Given the description of an element on the screen output the (x, y) to click on. 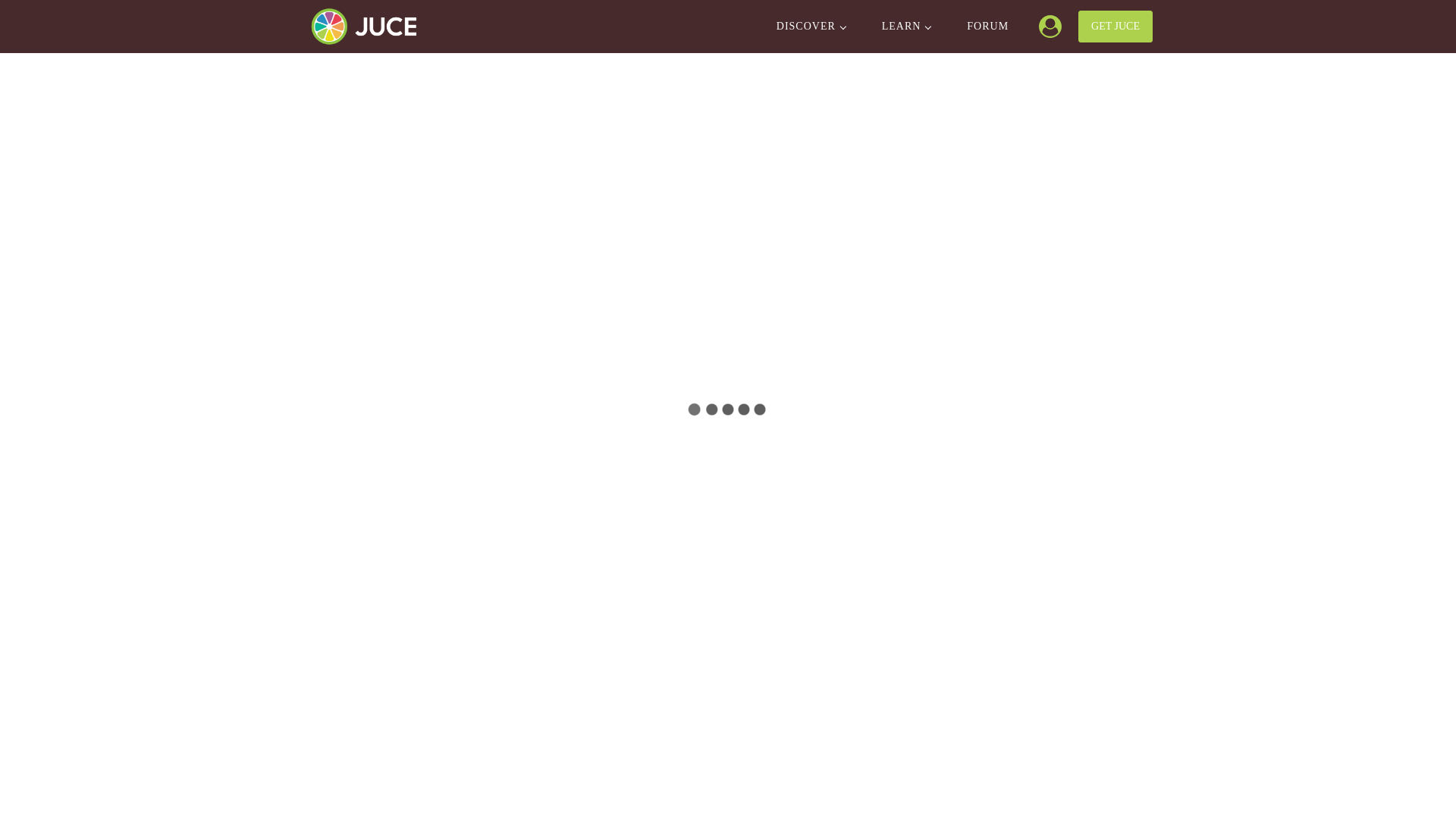
GET JUCE (1115, 26)
FORUM (987, 26)
LEARN (906, 26)
DISCOVER (810, 26)
